Given the description of an element on the screen output the (x, y) to click on. 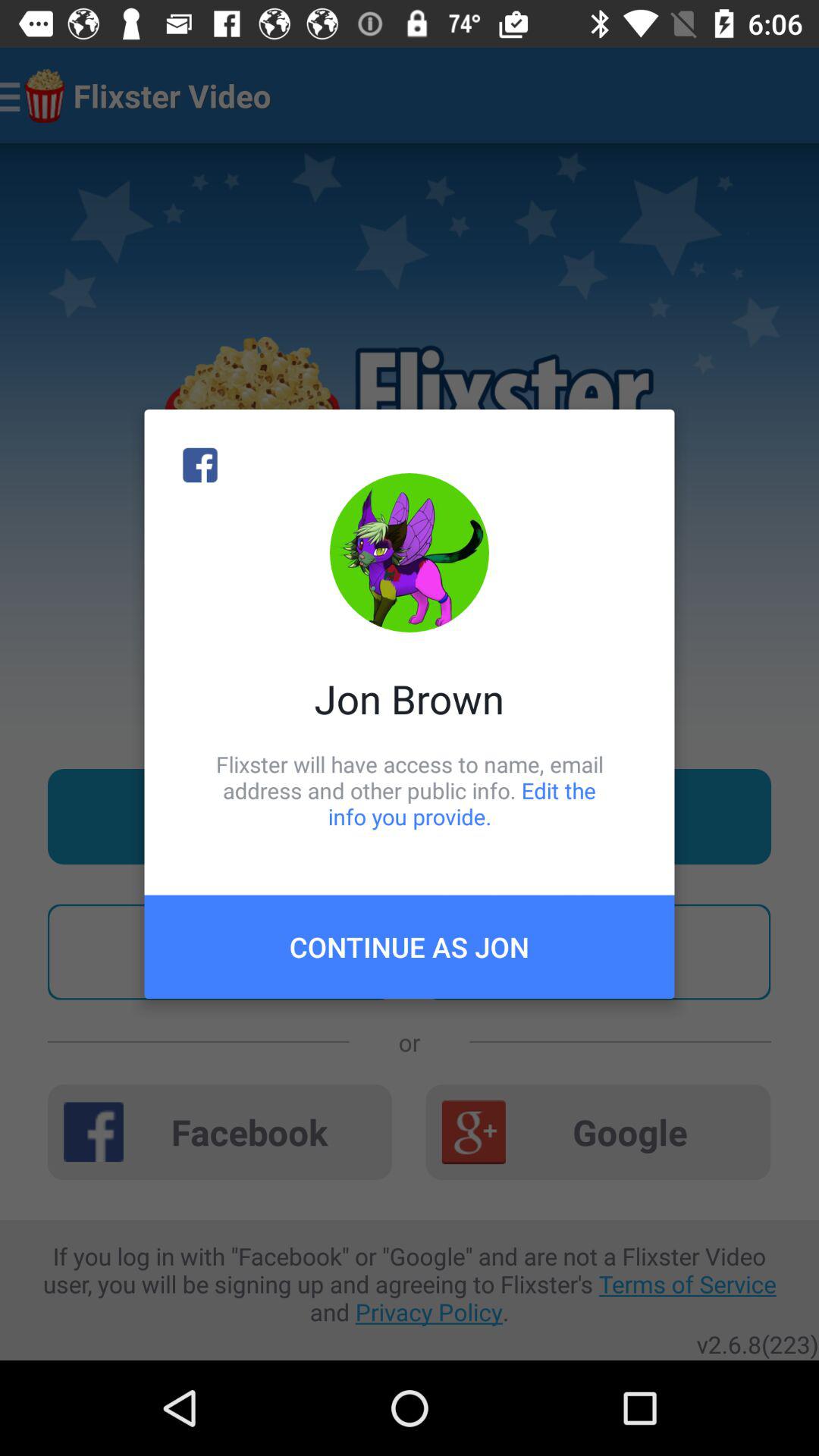
press the flixster will have (409, 790)
